Given the description of an element on the screen output the (x, y) to click on. 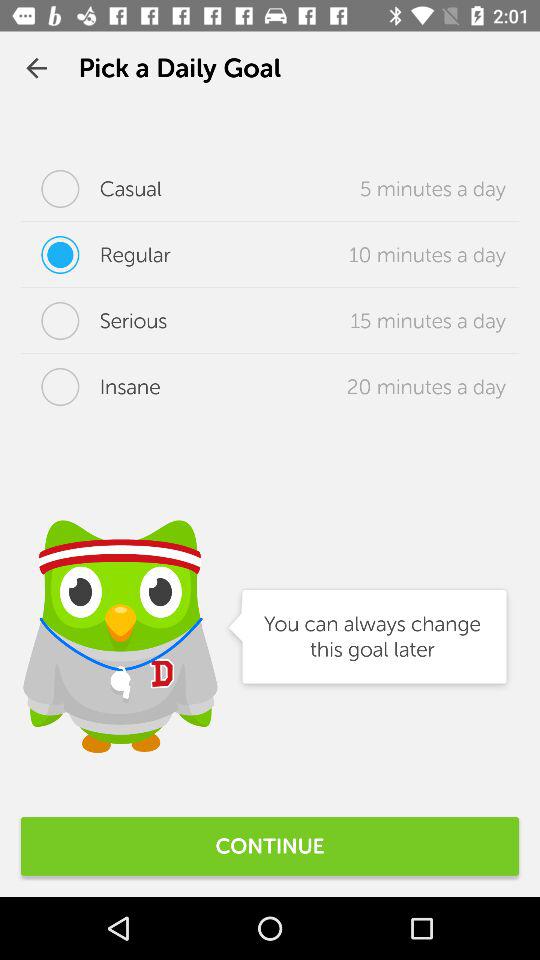
turn off icon to the left of the 10 minutes a item (95, 255)
